Given the description of an element on the screen output the (x, y) to click on. 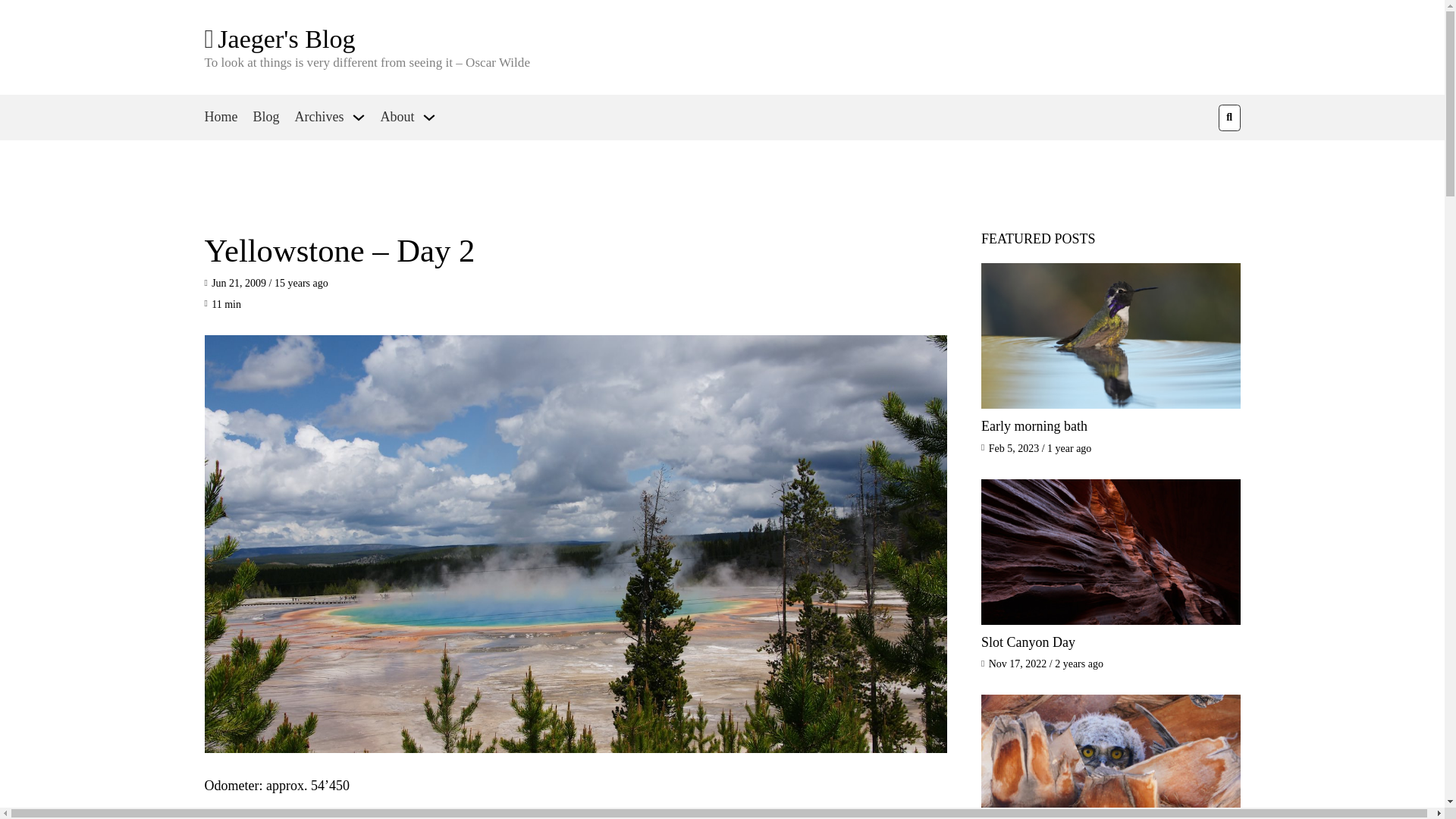
Home (221, 117)
Blog (266, 117)
Archives (319, 117)
About (397, 117)
Jaeger's Blog (285, 39)
